Given the description of an element on the screen output the (x, y) to click on. 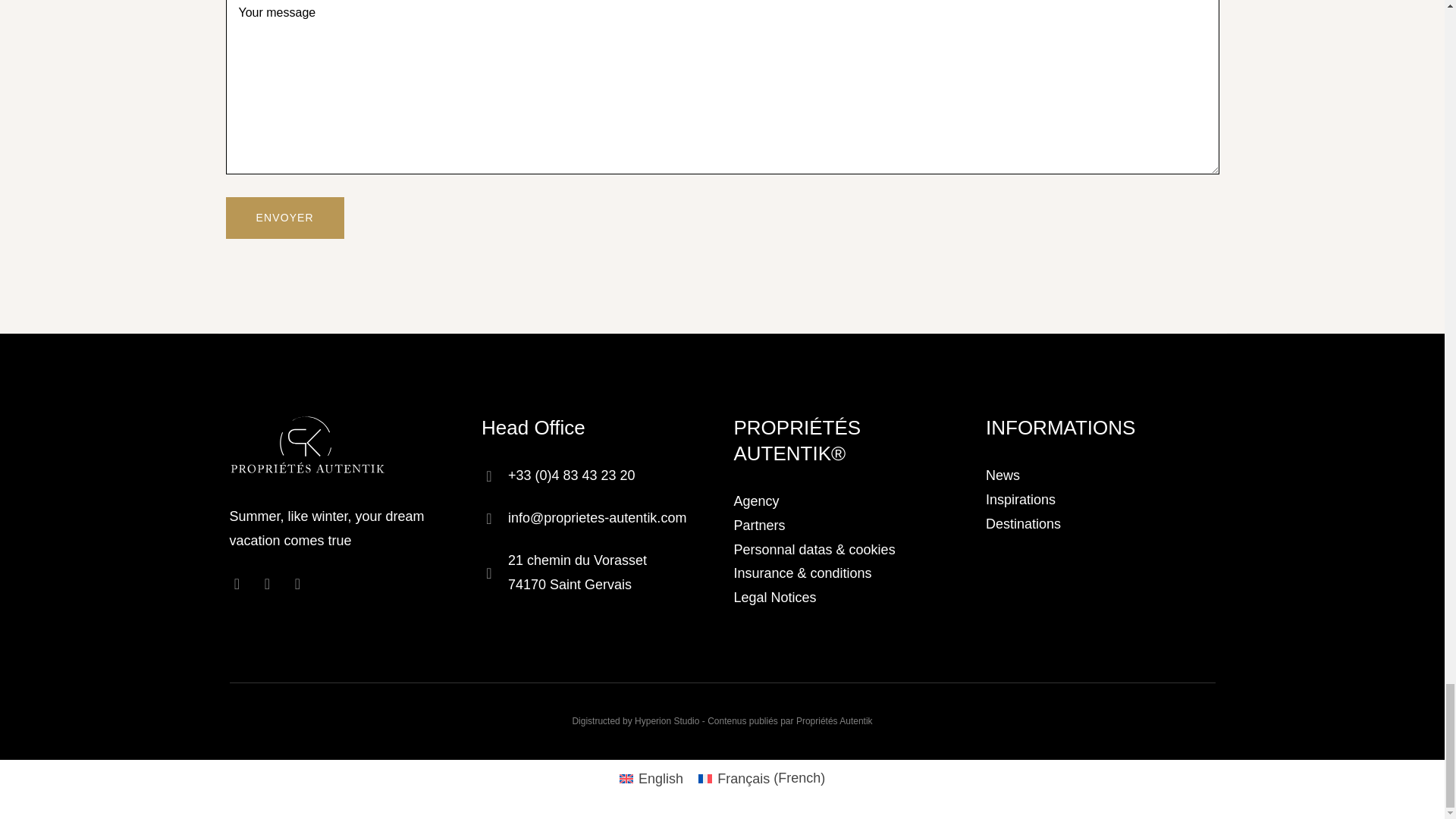
Destinations (1023, 523)
Envoyer (284, 218)
News (1002, 475)
Partners (759, 525)
Envoyer (284, 218)
Hyperion Studio (666, 720)
Agency (755, 500)
Legal Notices (774, 597)
